Given the description of an element on the screen output the (x, y) to click on. 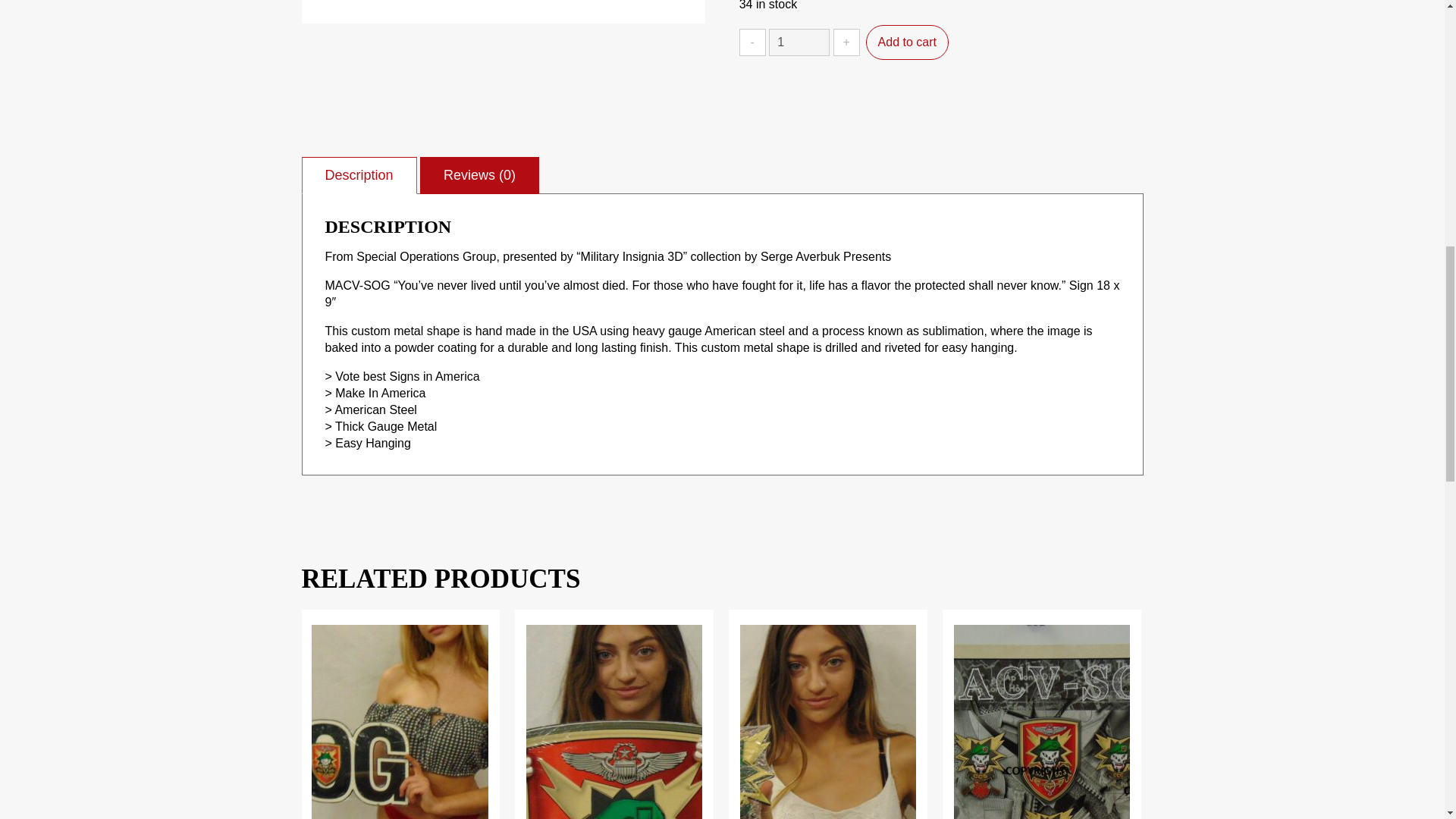
1 (798, 42)
